Given the description of an element on the screen output the (x, y) to click on. 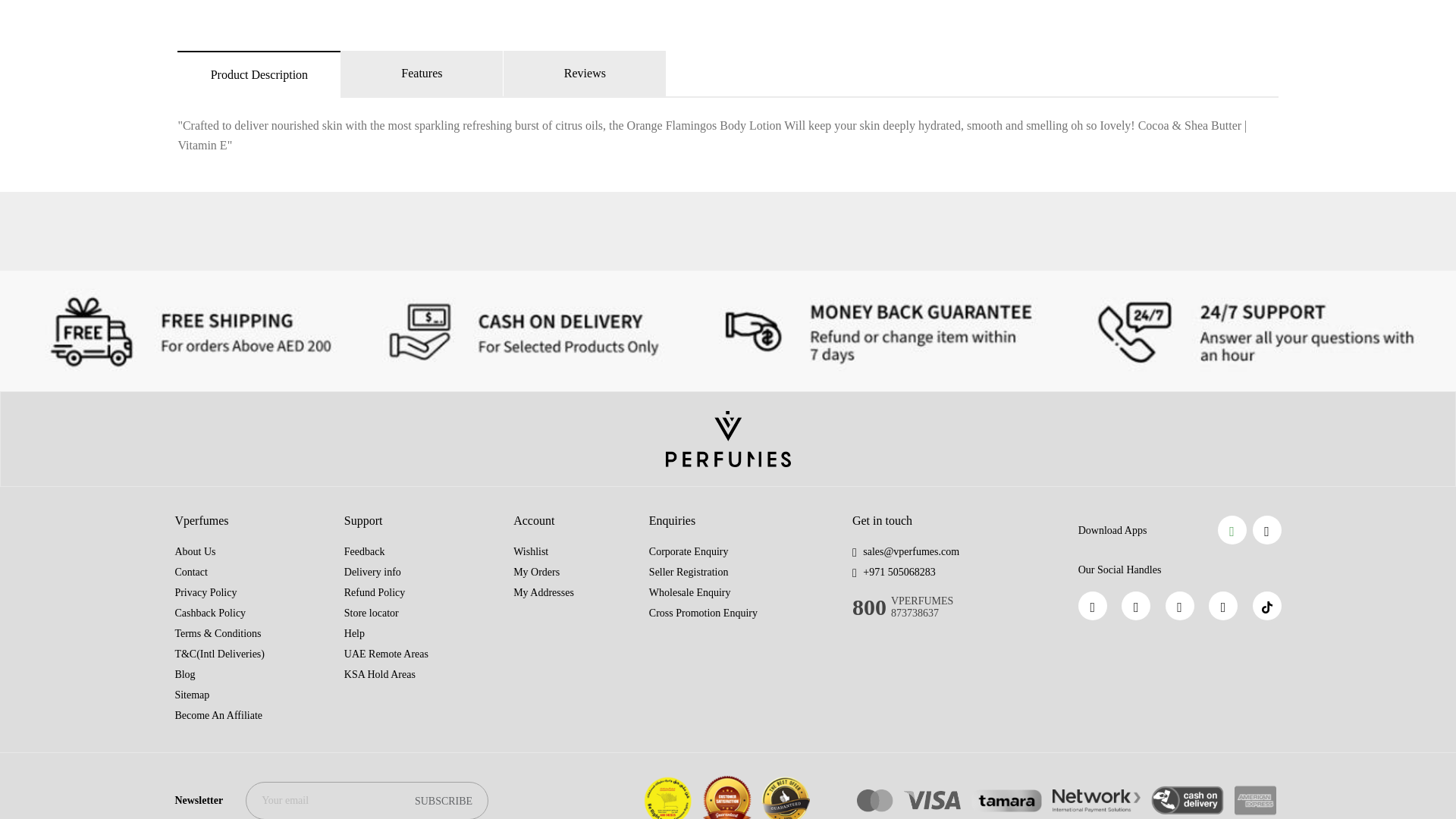
Folow us on Whatsapp (1135, 605)
Folow us on Twitter (1222, 605)
Folow us on Tiktok (1266, 605)
Folow us on Instagram (1179, 605)
Folow us on Facebook (1092, 605)
